Given the description of an element on the screen output the (x, y) to click on. 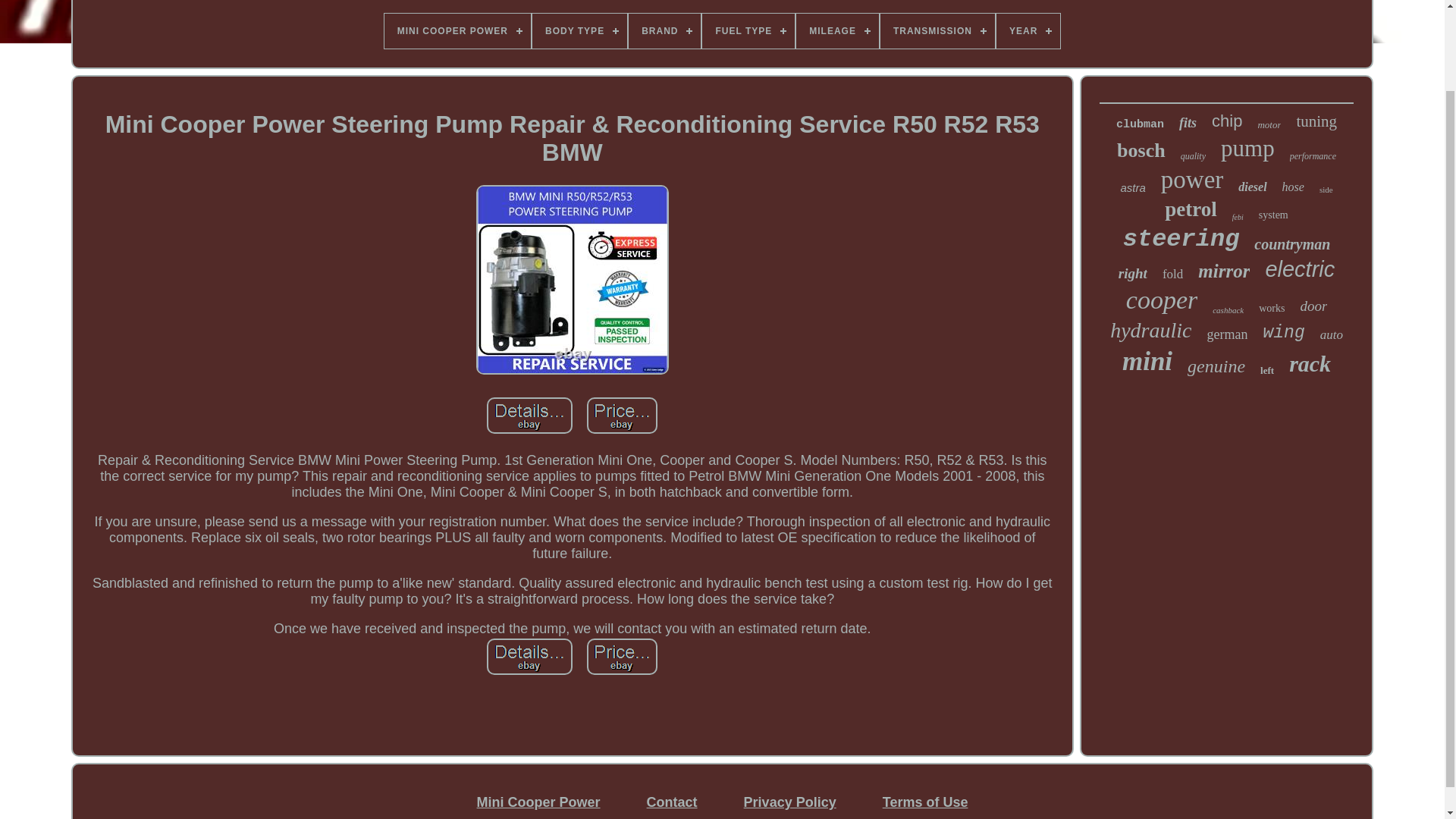
MINI COOPER POWER (457, 30)
BODY TYPE (579, 30)
BRAND (664, 30)
